Given the description of an element on the screen output the (x, y) to click on. 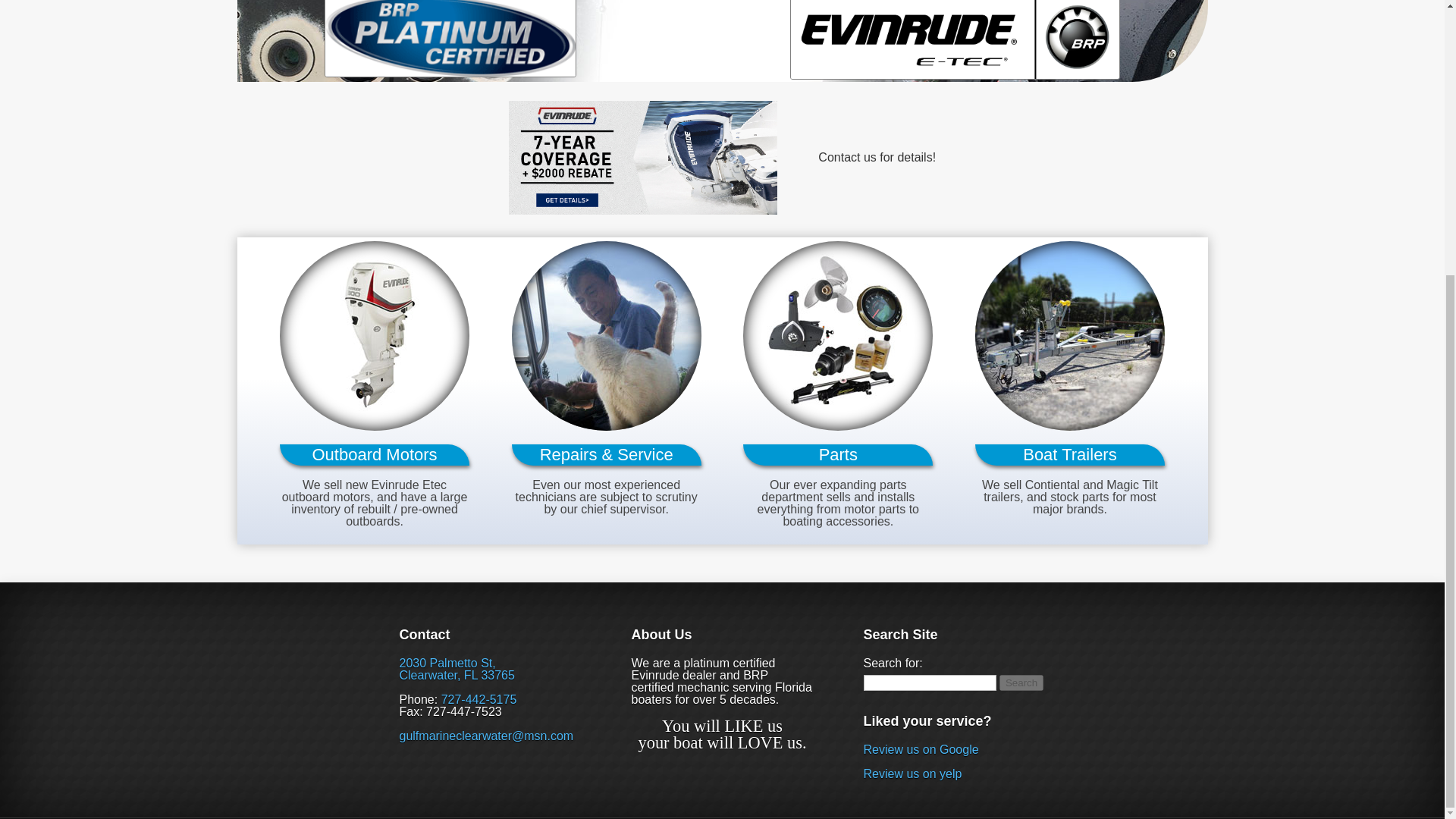
Search (1020, 682)
Outboard Motors (373, 335)
